Given the description of an element on the screen output the (x, y) to click on. 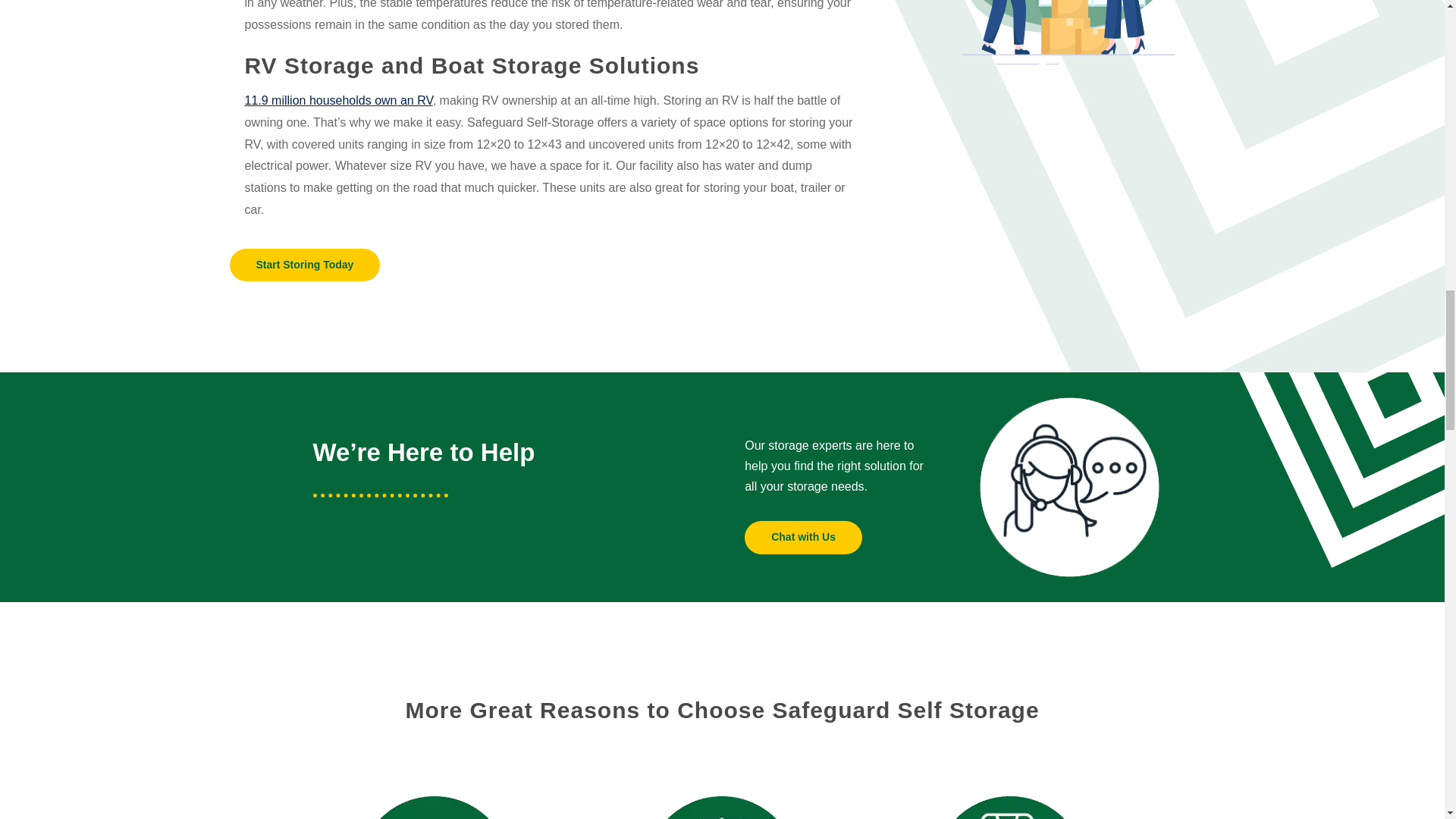
Start Storing Today (304, 264)
operator (1068, 486)
Chat with Us (802, 537)
moving and storage2 (1068, 44)
11.9 million households own an RV (338, 100)
